Given the description of an element on the screen output the (x, y) to click on. 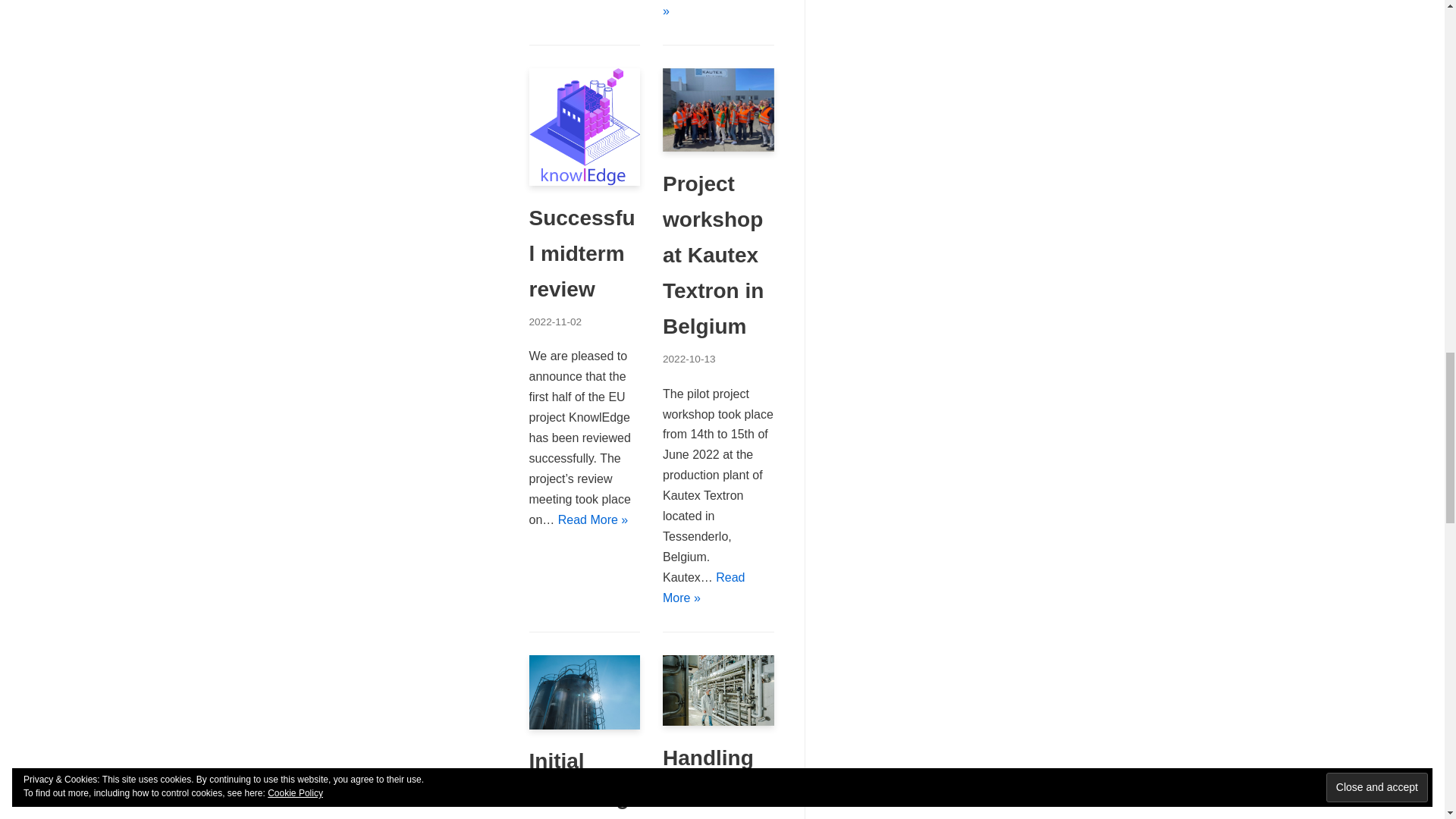
Handling Manufacturing Data in Trusted Environments (718, 721)
Initial knowlEdge business models drafted (584, 725)
